Given the description of an element on the screen output the (x, y) to click on. 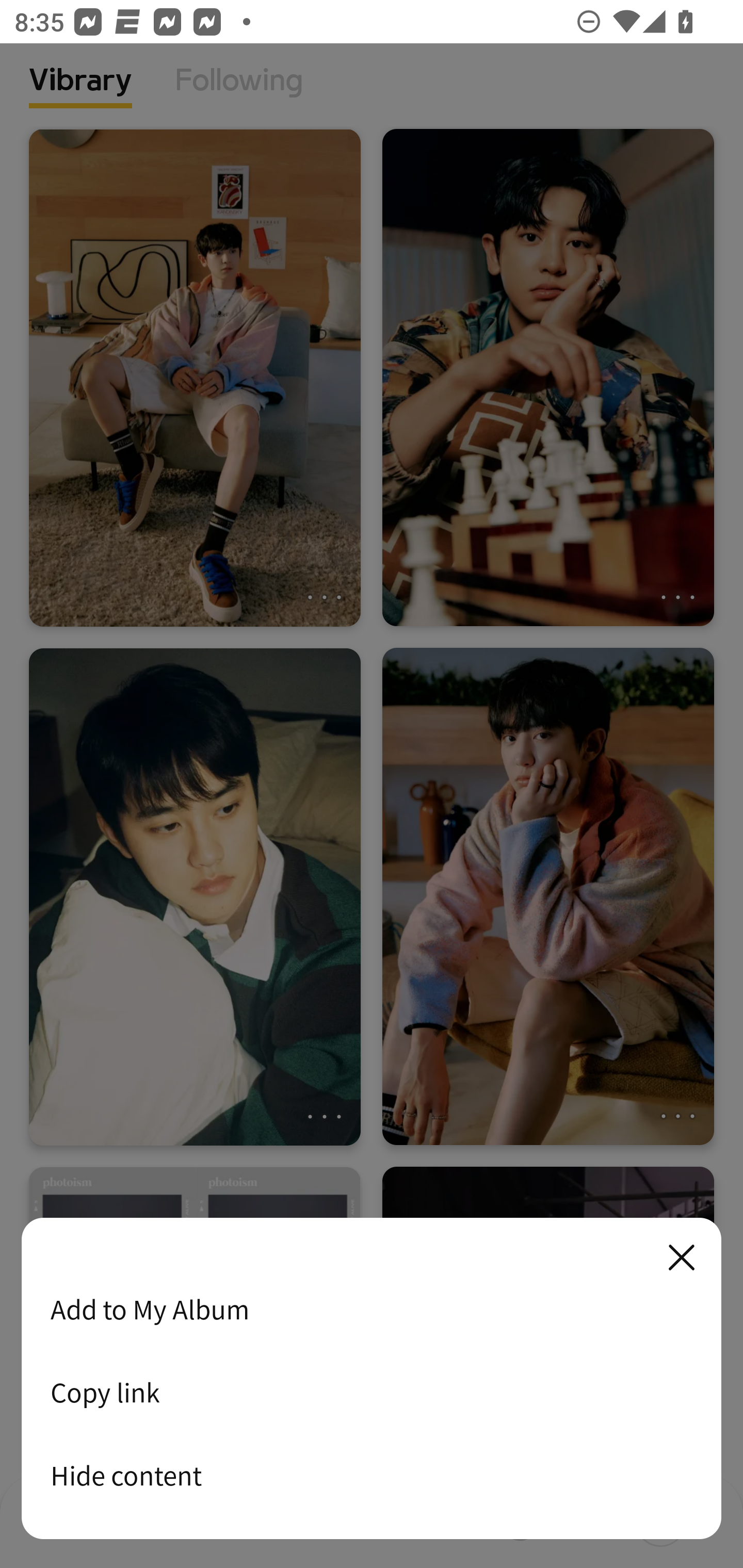
Add to My Album Copy link Hide content (371, 1378)
Add to My Album (371, 1308)
Copy link (371, 1391)
Hide content (371, 1474)
